Given the description of an element on the screen output the (x, y) to click on. 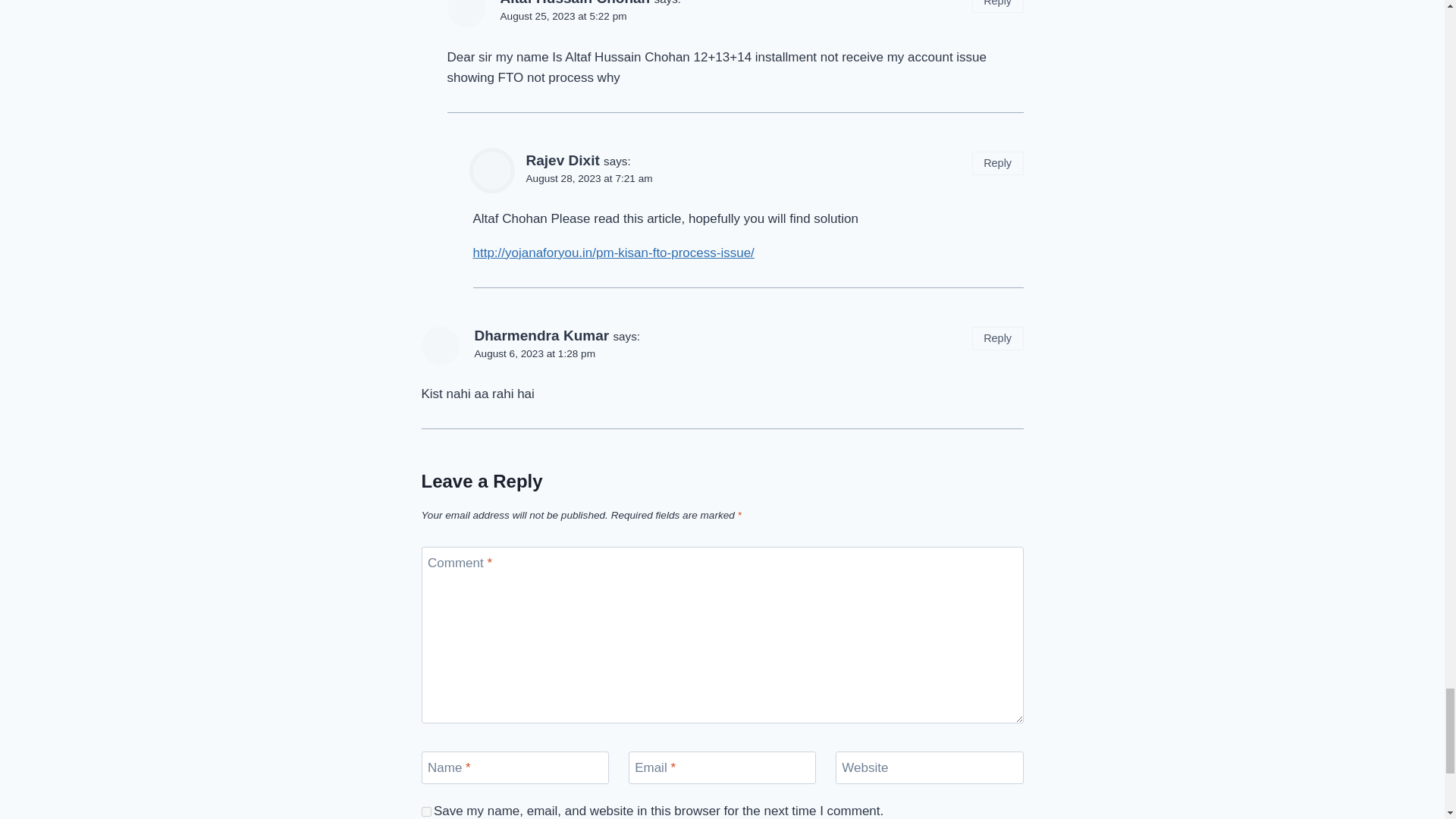
yes (426, 811)
